Given the description of an element on the screen output the (x, y) to click on. 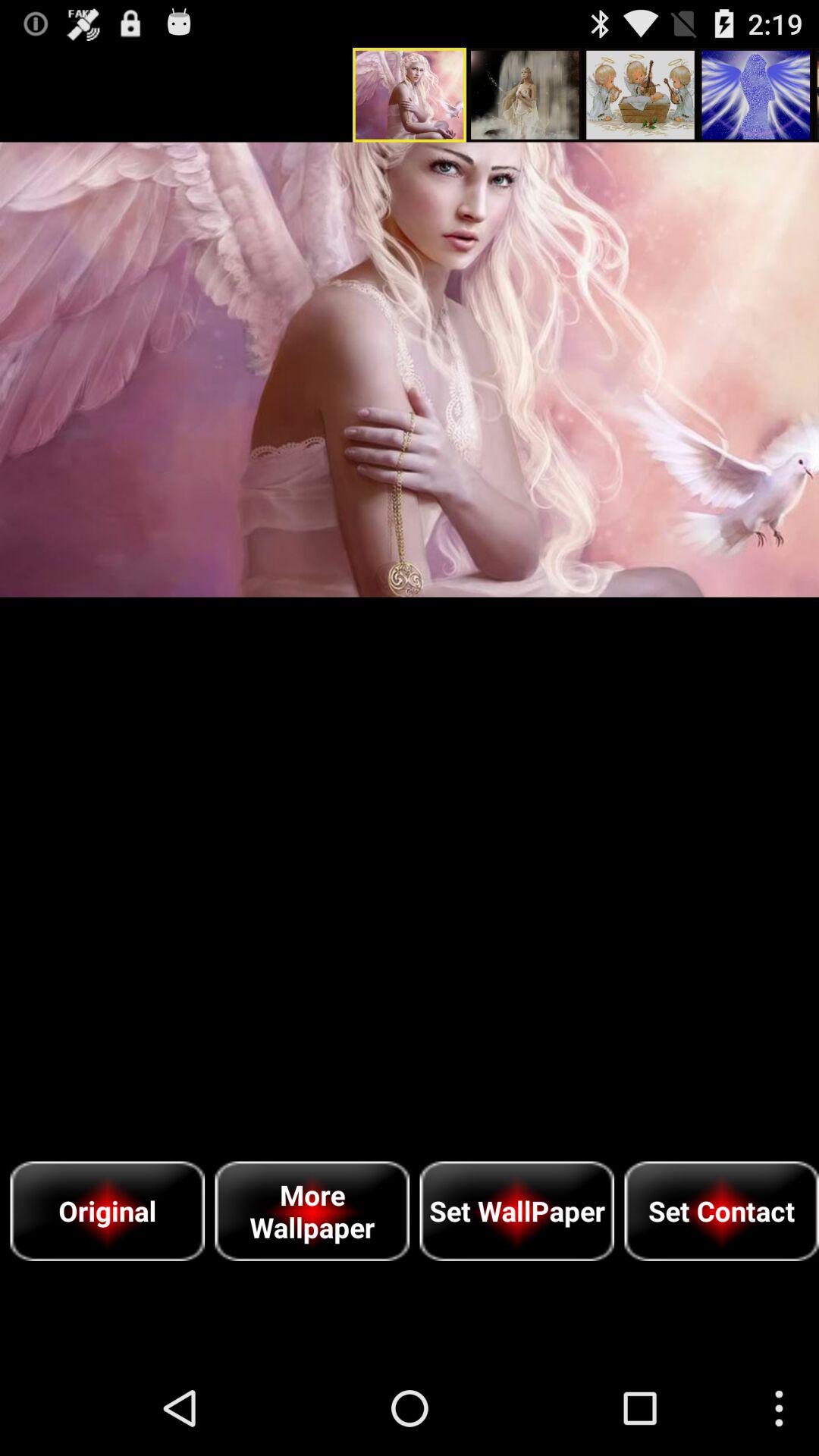
flip to the set wallpaper icon (516, 1210)
